Given the description of an element on the screen output the (x, y) to click on. 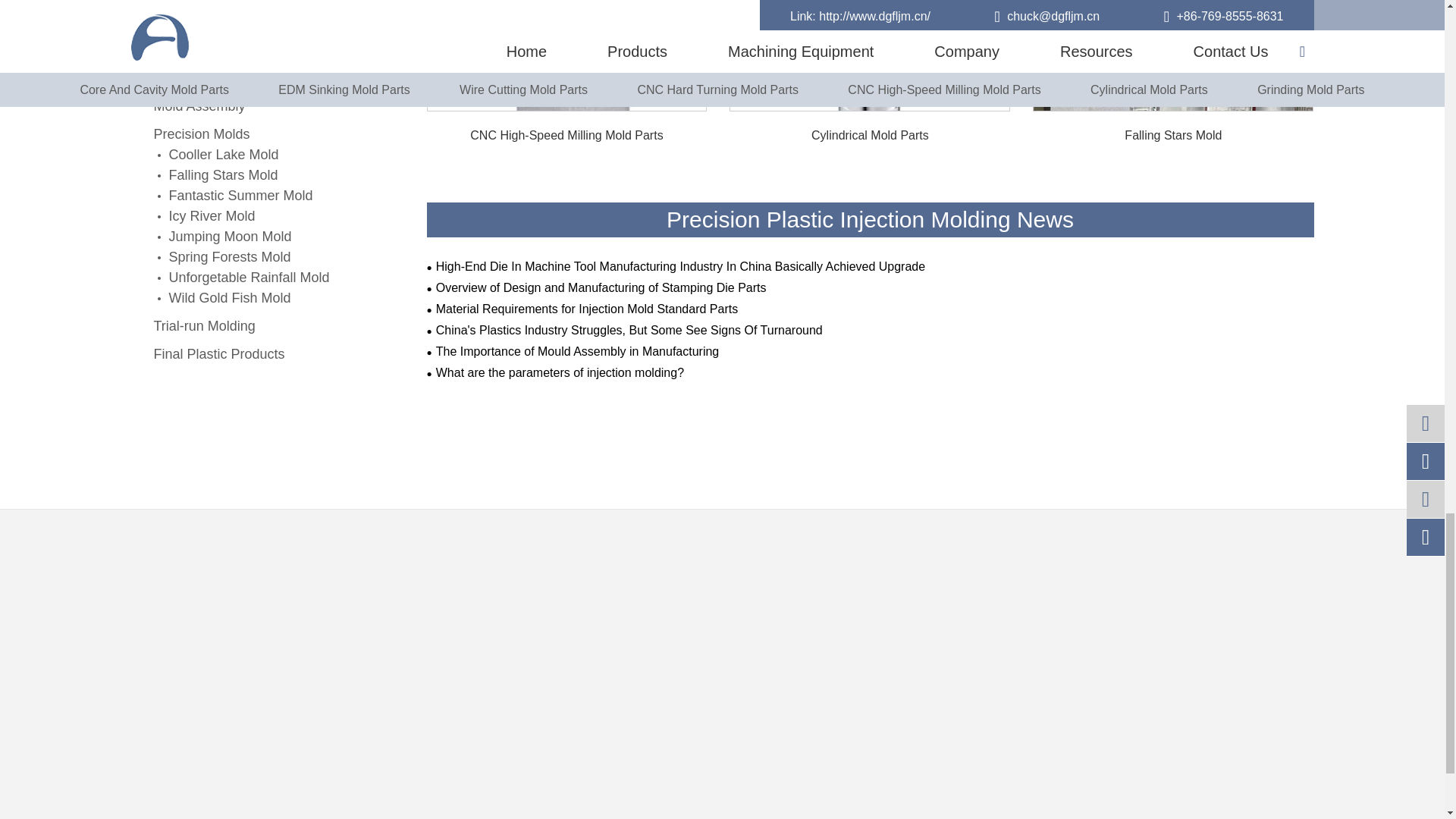
Cylindrical Mold Parts (869, 155)
Falling Stars Mold (1173, 155)
CNC High-Speed Milling Mold Parts (567, 155)
